Given the description of an element on the screen output the (x, y) to click on. 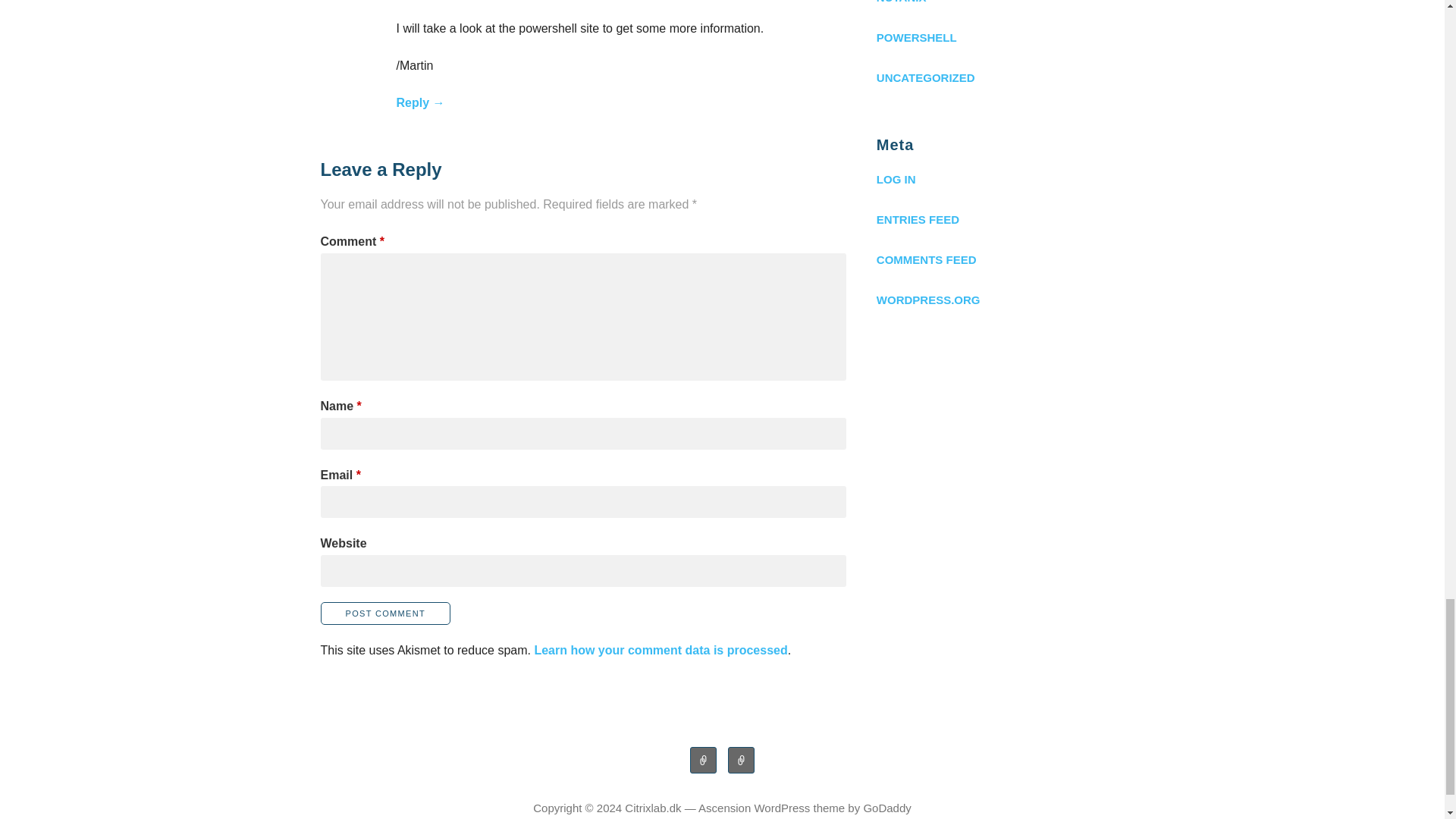
Post Comment (384, 612)
Post Comment (384, 612)
Reply (420, 102)
Learn how your comment data is processed (660, 649)
